Given the description of an element on the screen output the (x, y) to click on. 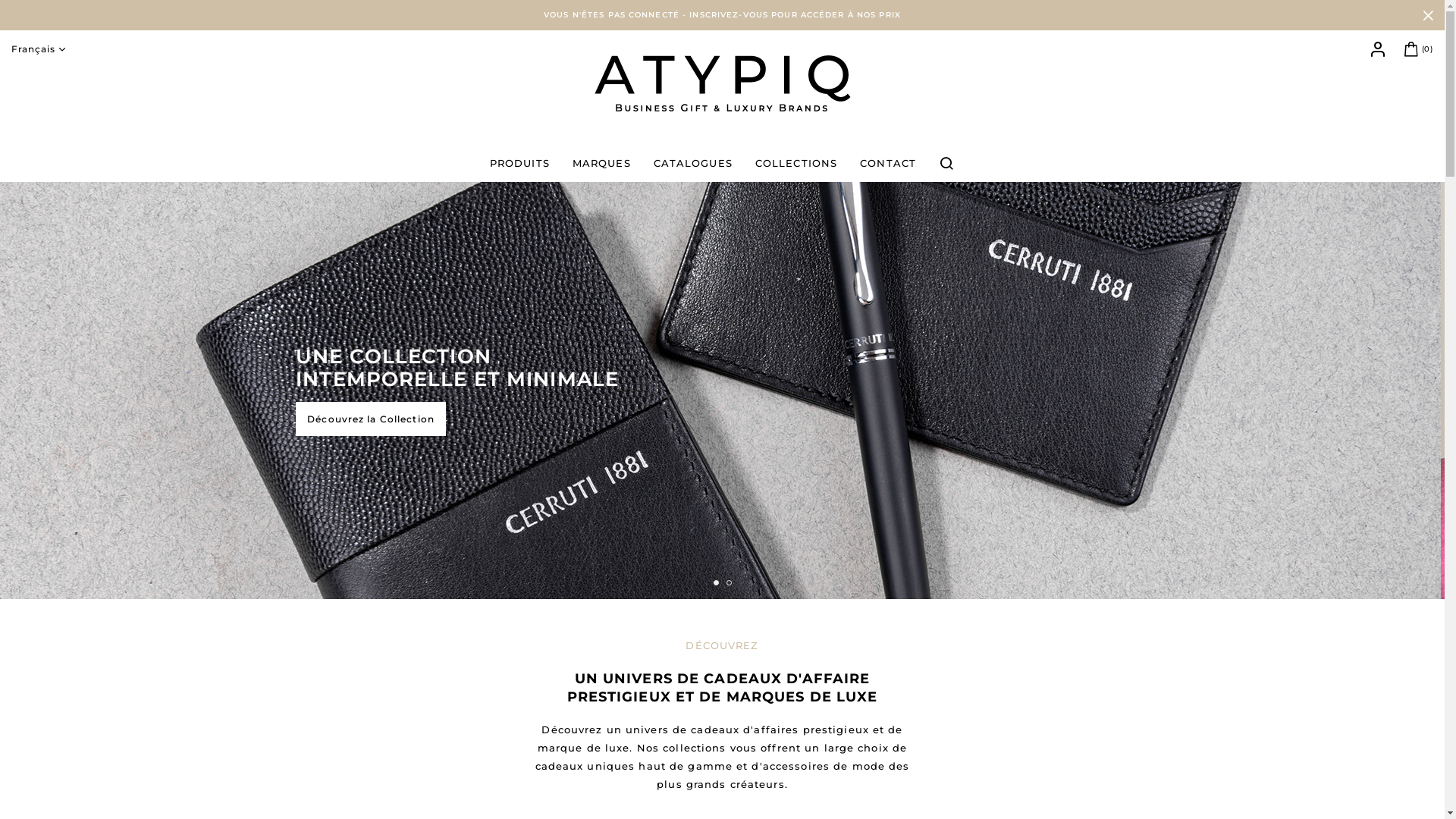
COLLECTIONS Element type: text (795, 163)
MARQUES Element type: text (601, 163)
(0) Element type: text (1416, 49)
CONTACT Element type: text (887, 163)
CATALOGUES Element type: text (692, 163)
PRODUITS Element type: text (519, 163)
